Given the description of an element on the screen output the (x, y) to click on. 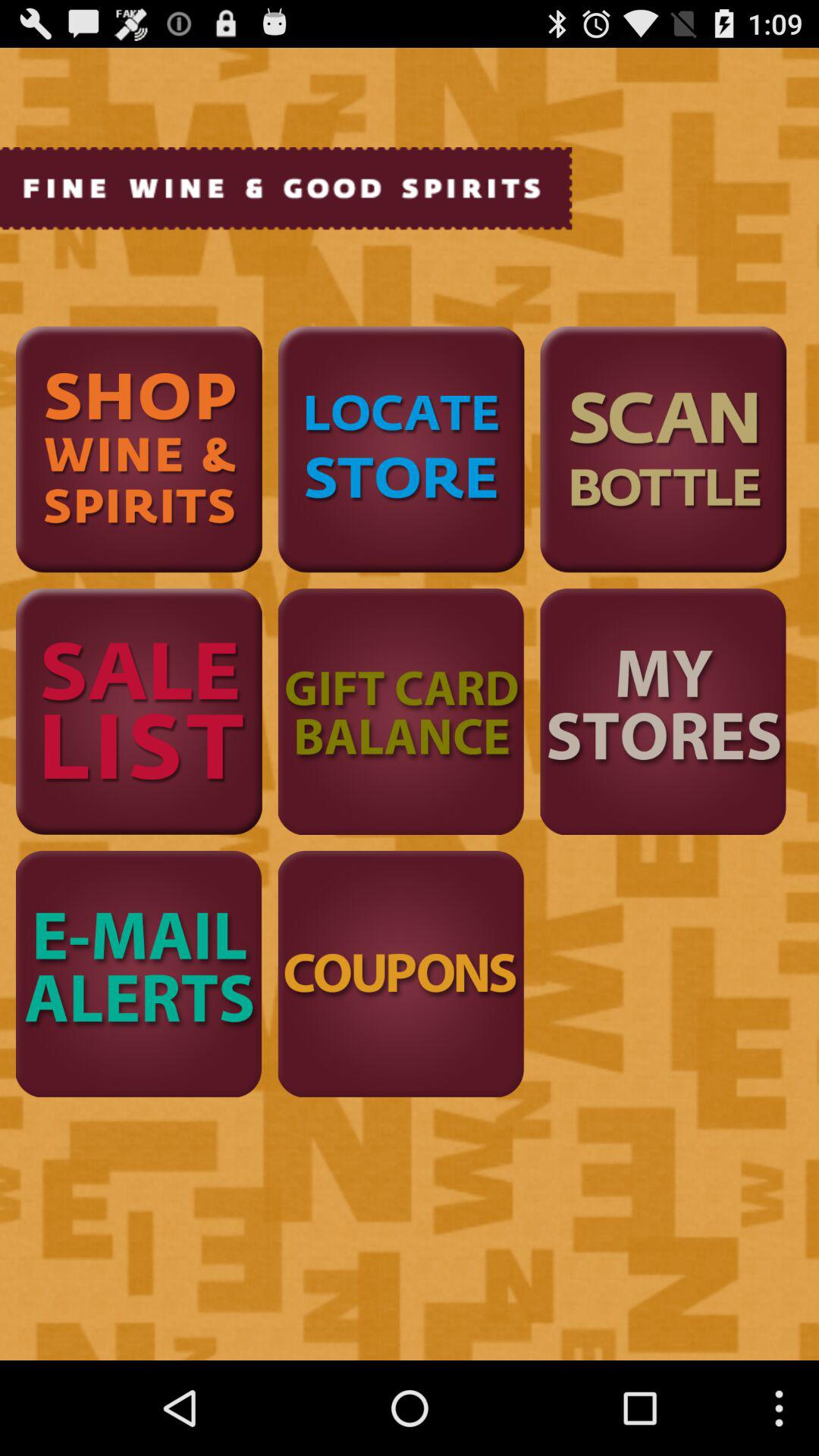
go to email alerts (138, 973)
